Given the description of an element on the screen output the (x, y) to click on. 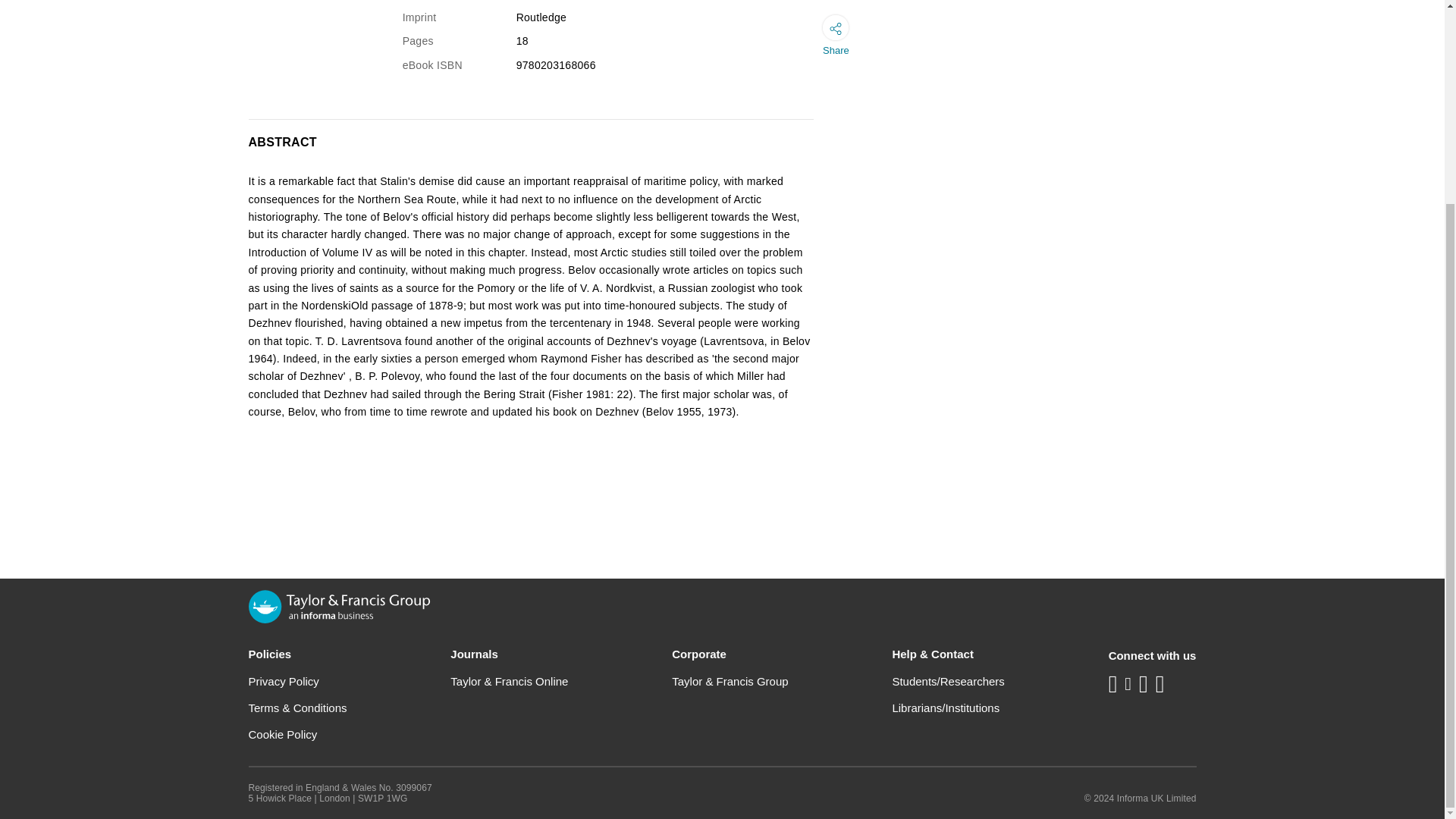
Cookie Policy (282, 734)
Privacy Policy (283, 681)
